Given the description of an element on the screen output the (x, y) to click on. 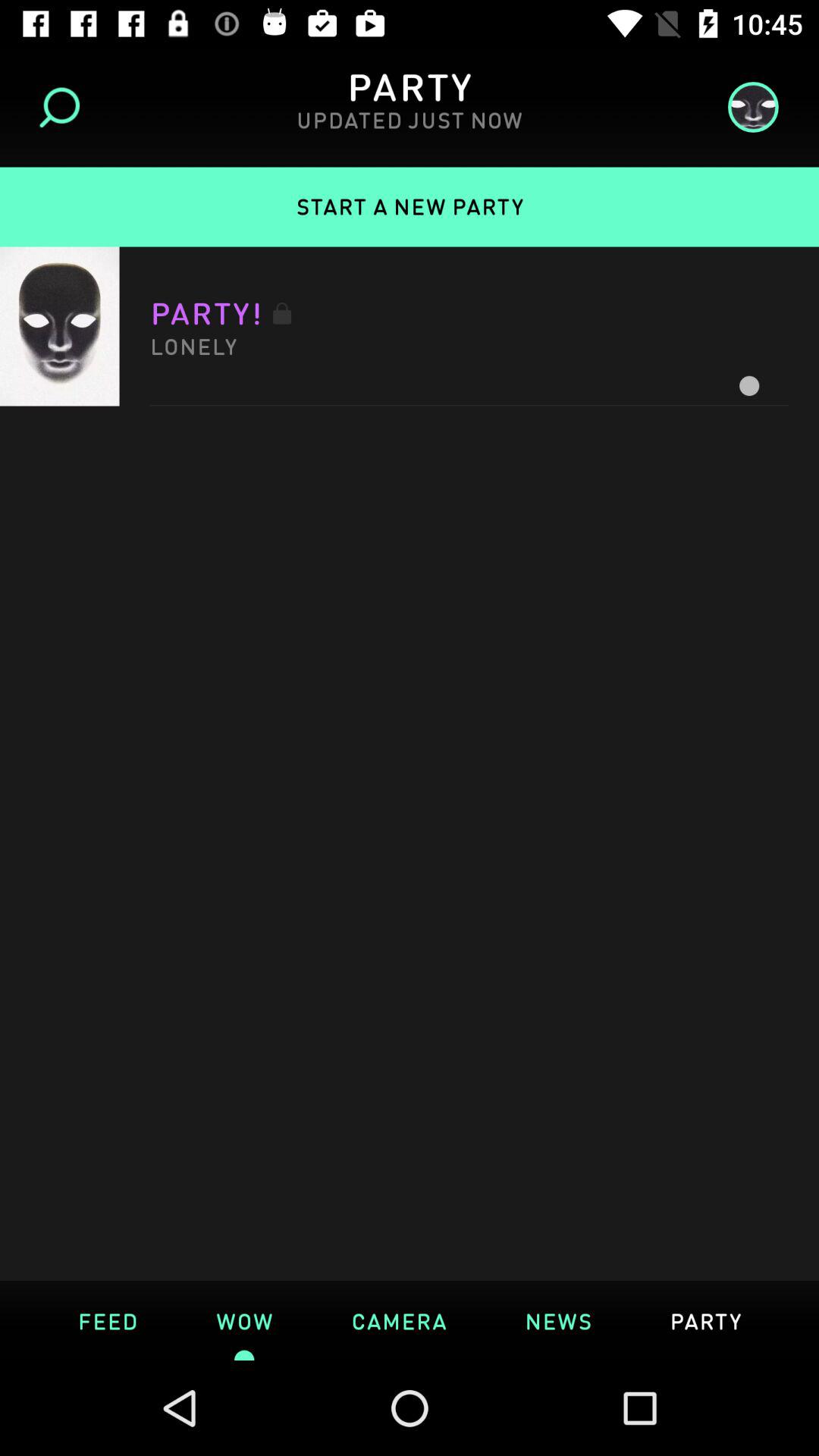
click to search (64, 107)
